Given the description of an element on the screen output the (x, y) to click on. 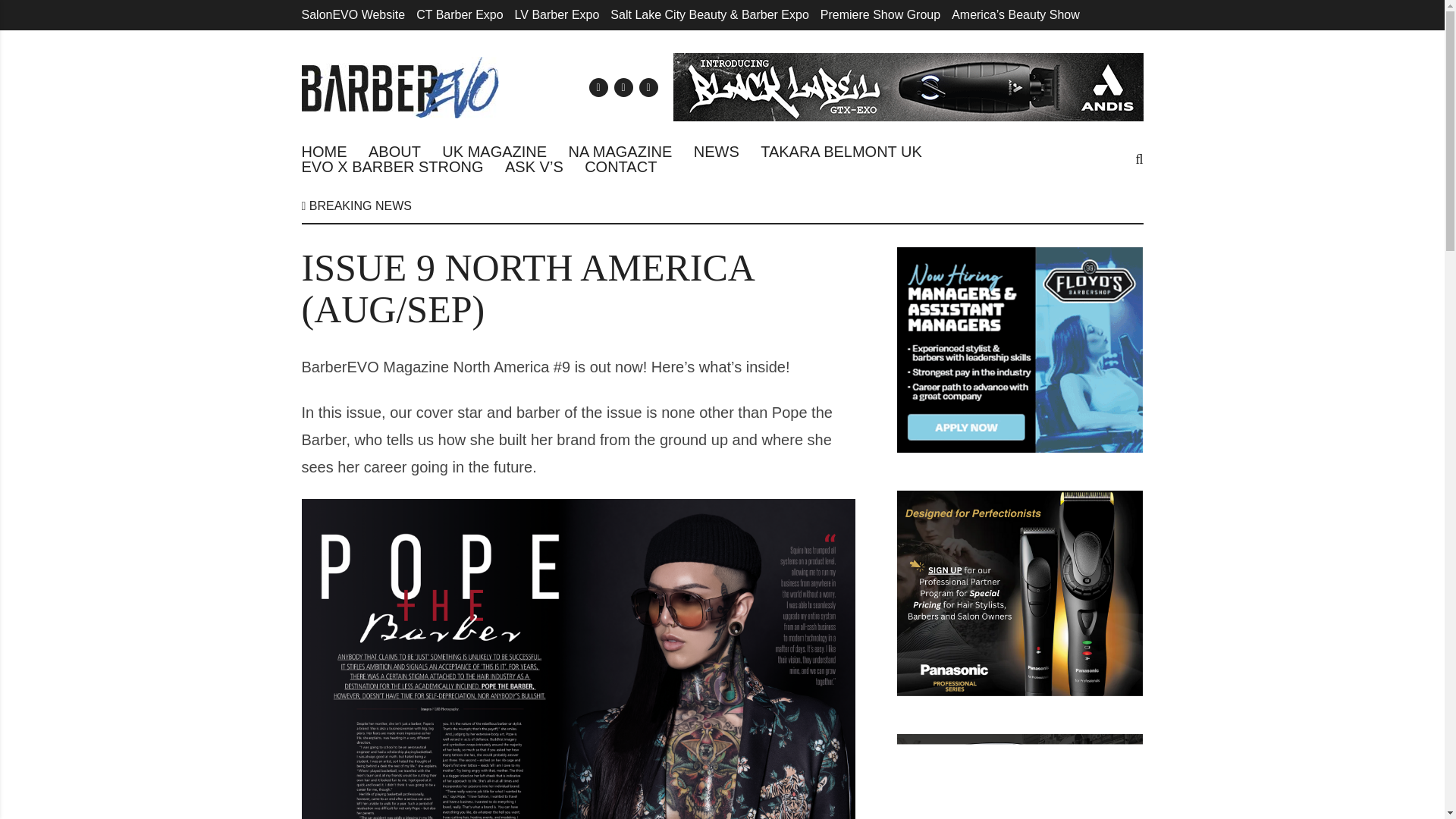
Email (597, 86)
LV Barber Expo (557, 14)
NEWS (716, 151)
HOME (324, 151)
CONTACT (620, 166)
Facebook (623, 86)
Premiere Show Group (880, 14)
UK MAGAZINE (494, 151)
NA MAGAZINE (620, 151)
TAKARA BELMONT UK (840, 151)
EVO X BARBER STRONG (392, 166)
BarberEVO Magazine (400, 86)
SalonEVO Website (353, 14)
CT Barber Expo (459, 14)
Instagram (648, 86)
